Given the description of an element on the screen output the (x, y) to click on. 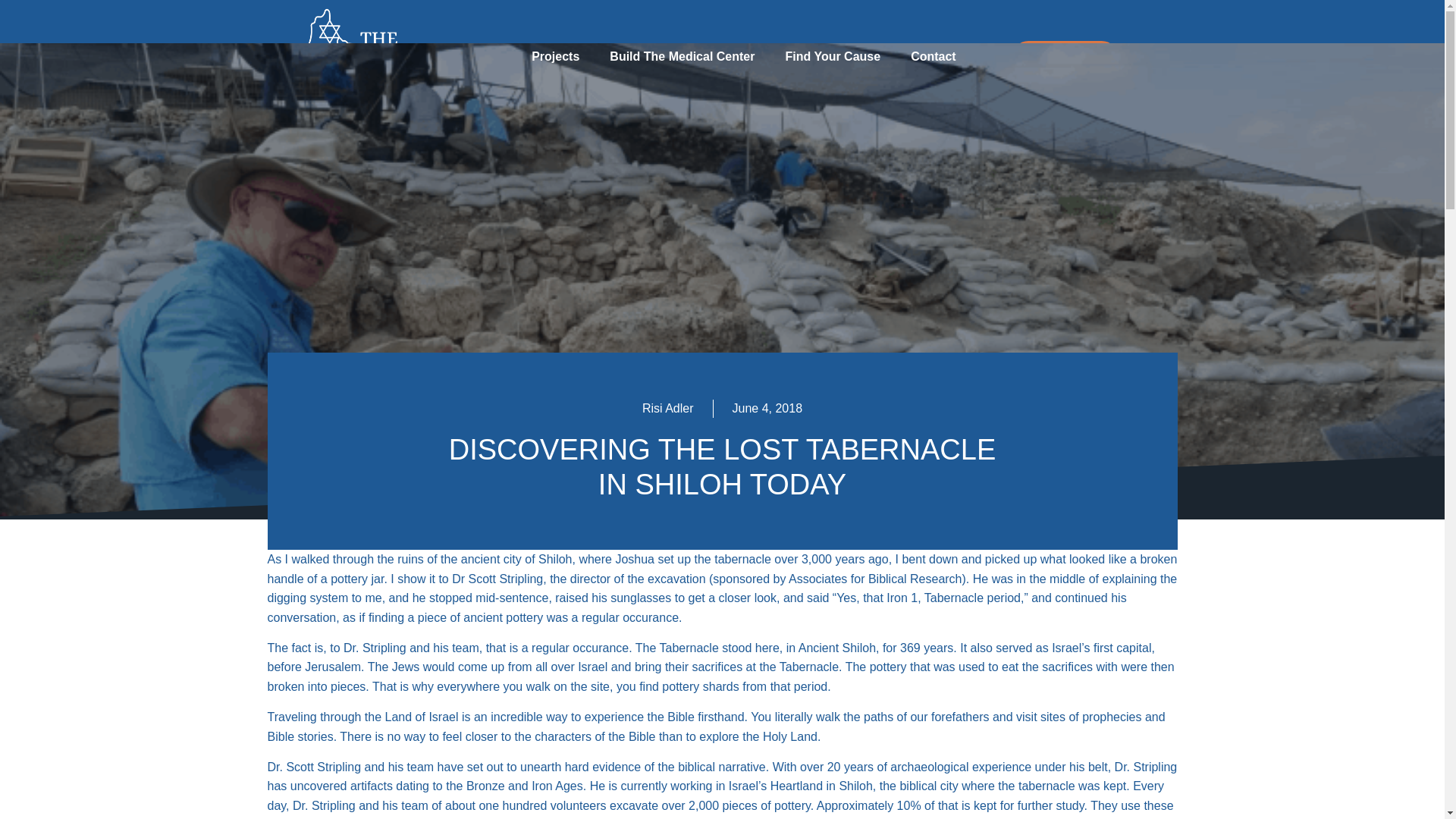
Build The Medical Center (682, 56)
Projects (555, 56)
Find Your Cause (832, 56)
DONATE (1064, 56)
Risi Adler (668, 408)
Contact (933, 56)
June 4, 2018 (767, 408)
